Given the description of an element on the screen output the (x, y) to click on. 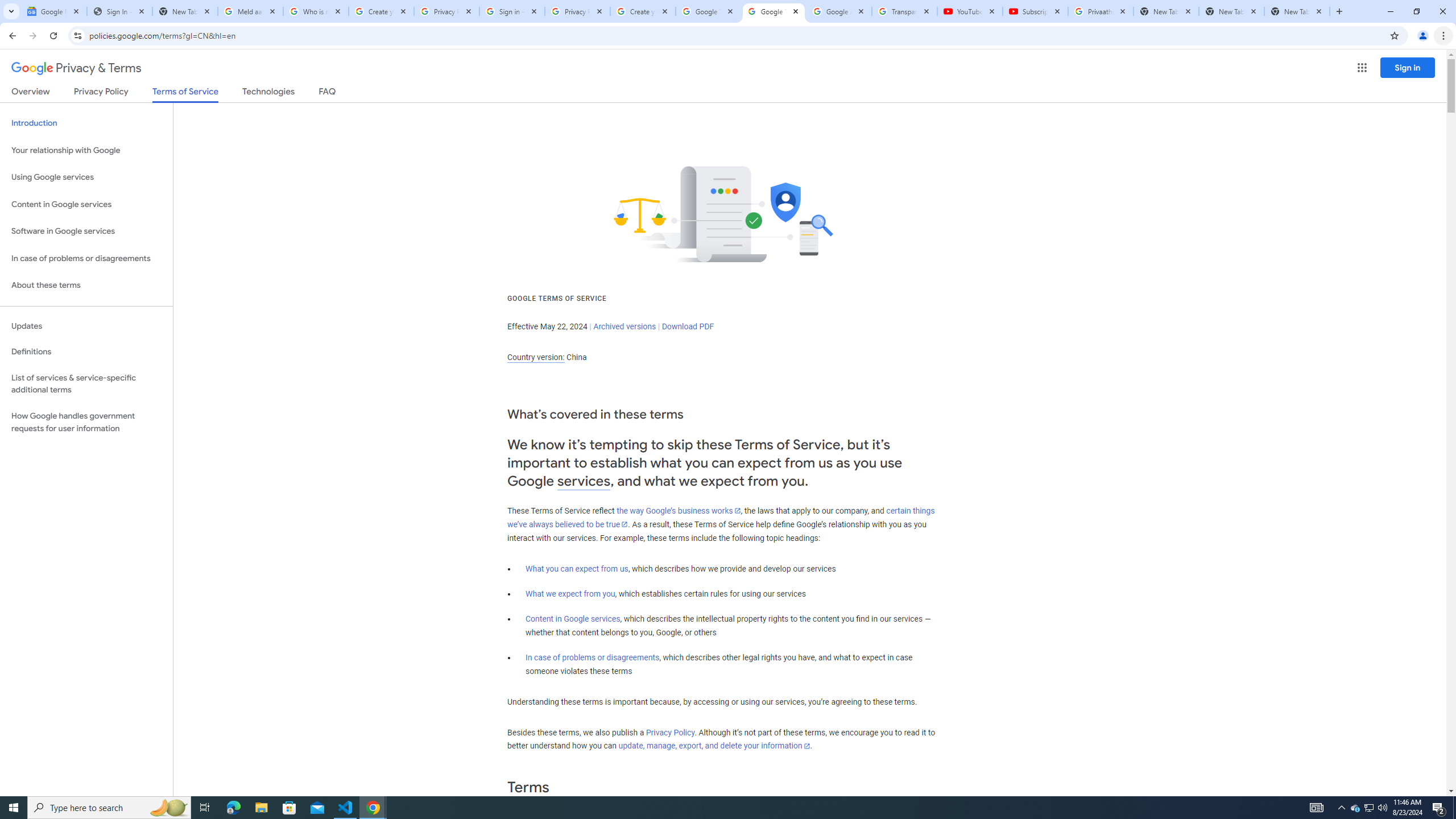
Definitions (86, 352)
How Google handles government requests for user information (86, 422)
List of services & service-specific additional terms (86, 383)
What we expect from you (570, 593)
About these terms (86, 284)
services (583, 480)
